Given the description of an element on the screen output the (x, y) to click on. 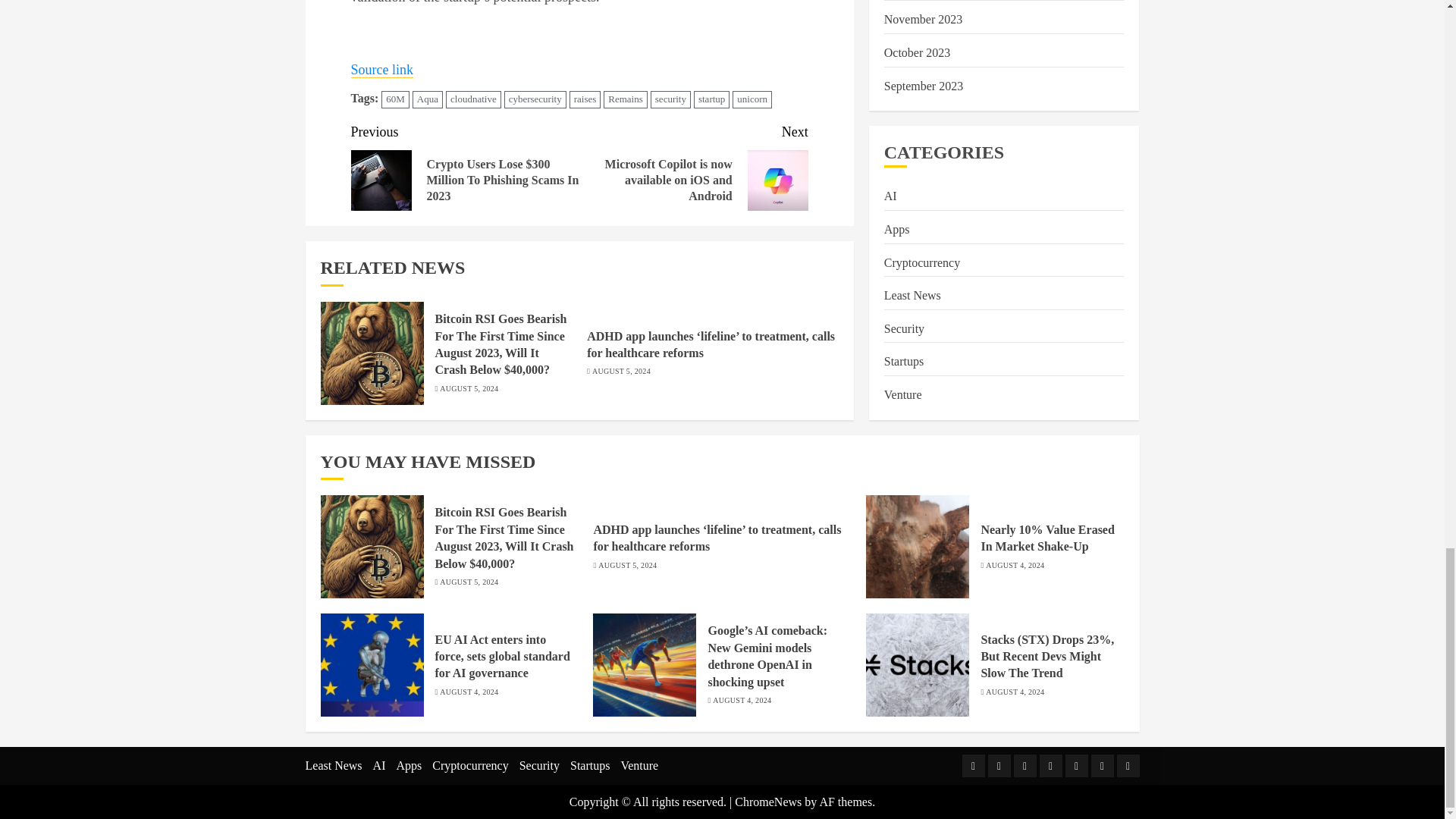
Aqua (427, 99)
60M (395, 99)
Source link (381, 69)
cloudnative (472, 99)
